Given the description of an element on the screen output the (x, y) to click on. 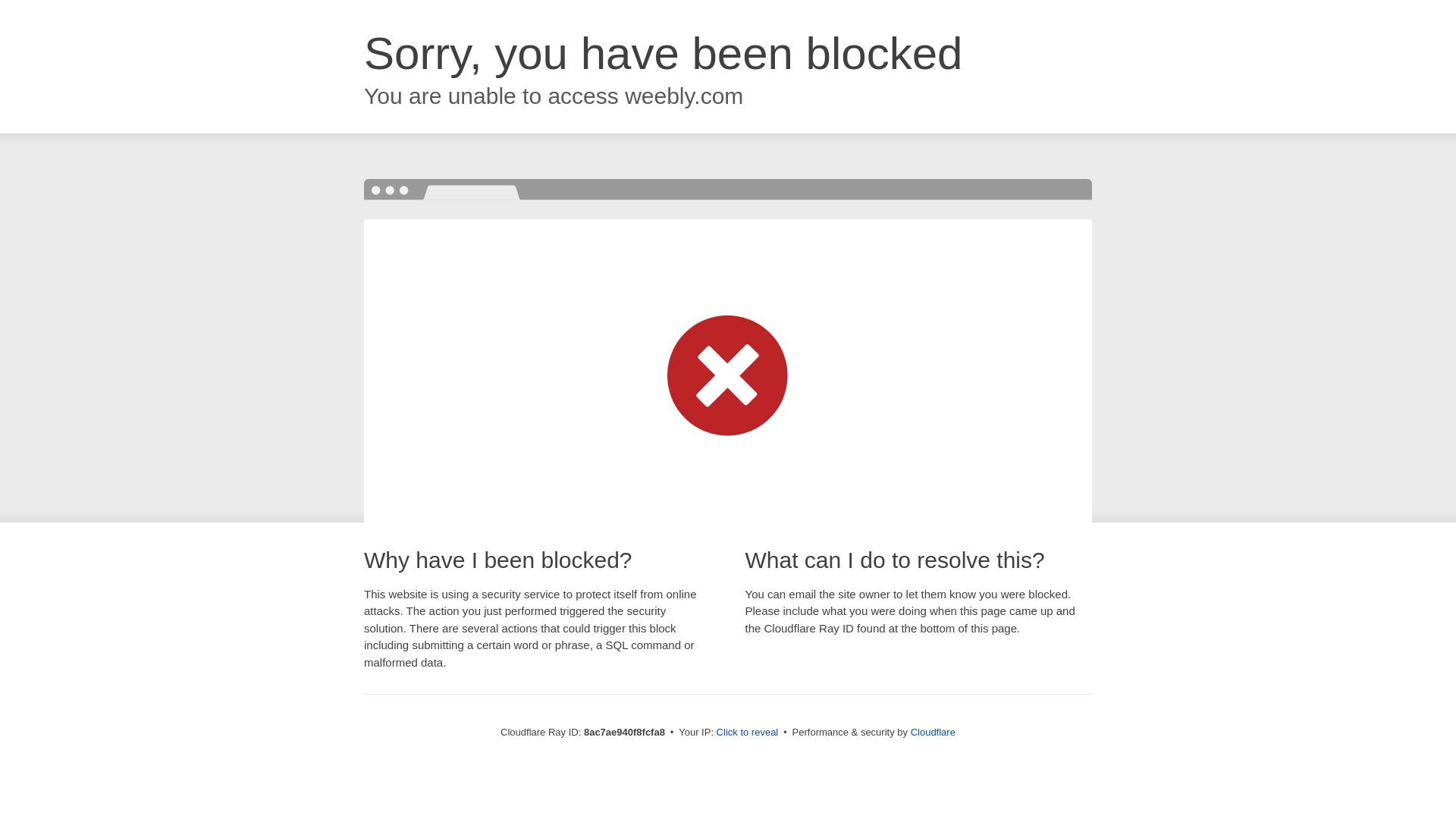
Click to reveal (747, 732)
Cloudflare (933, 731)
